Given the description of an element on the screen output the (x, y) to click on. 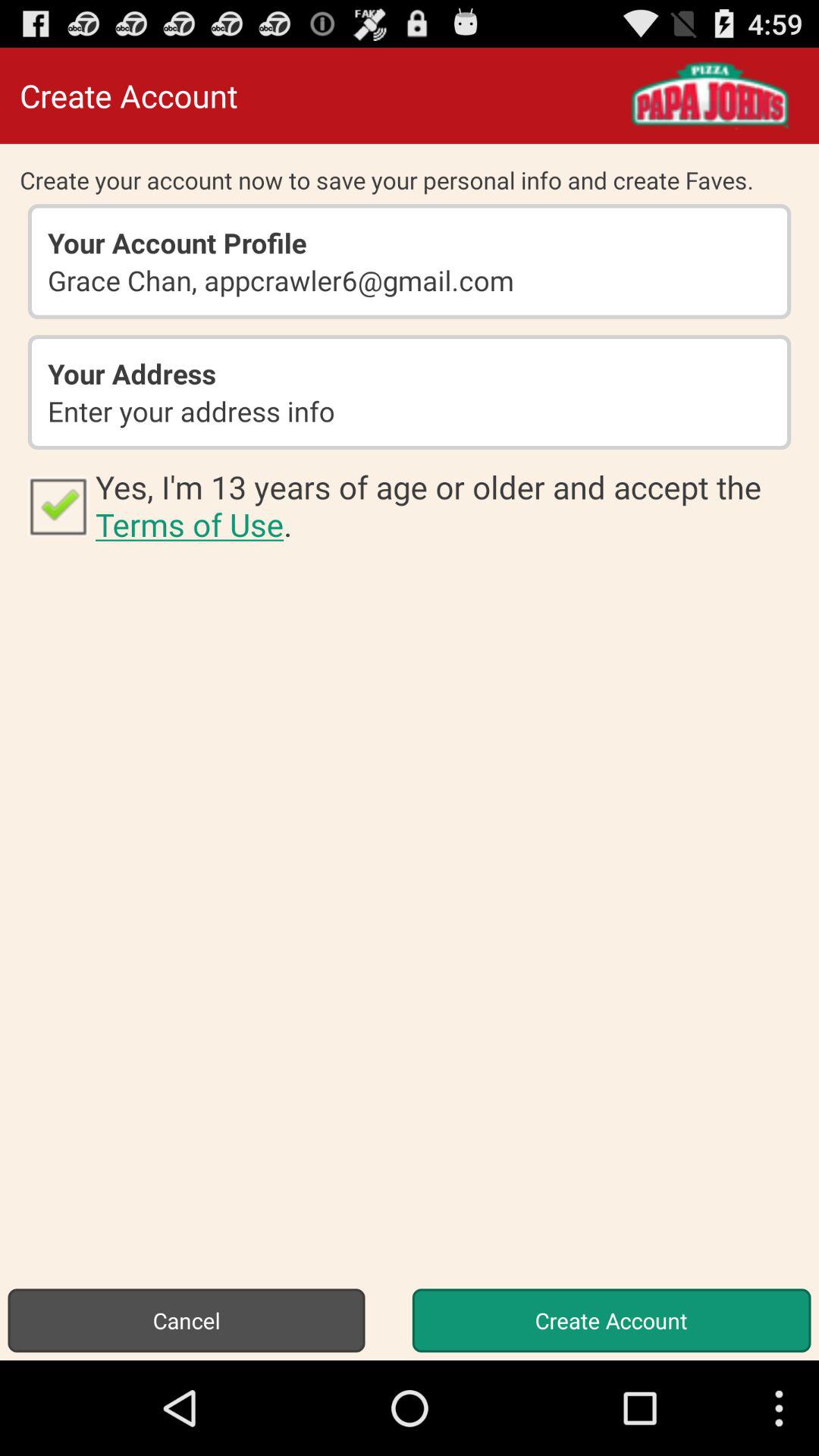
choose button above the cancel icon (57, 505)
